Given the description of an element on the screen output the (x, y) to click on. 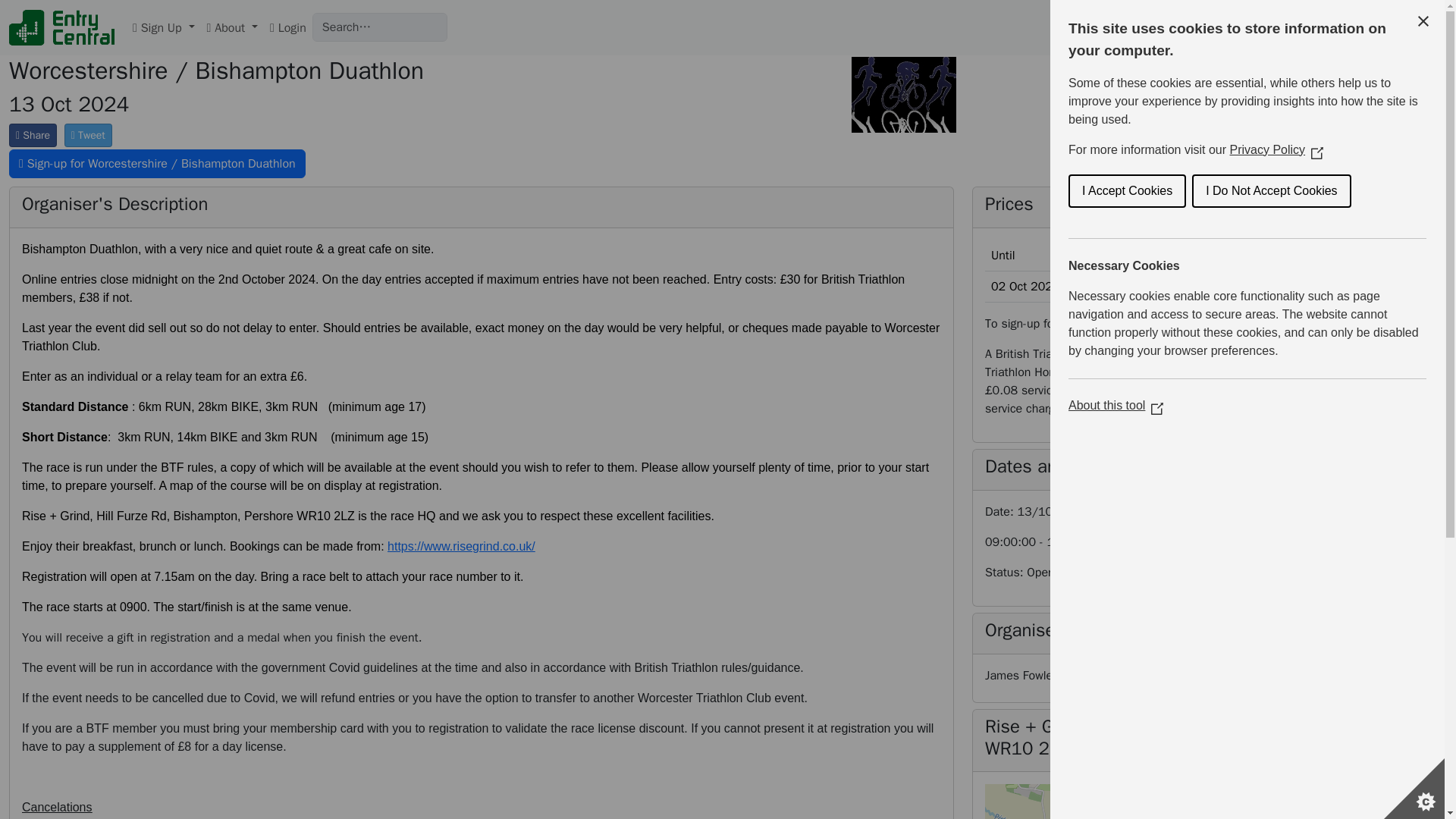
Sign Up (163, 27)
I Accept Cookies (1325, 191)
Share (32, 135)
Zoom out (1401, 817)
Zoom in (1401, 804)
Tweet (88, 135)
Login (288, 27)
About (231, 27)
